Given the description of an element on the screen output the (x, y) to click on. 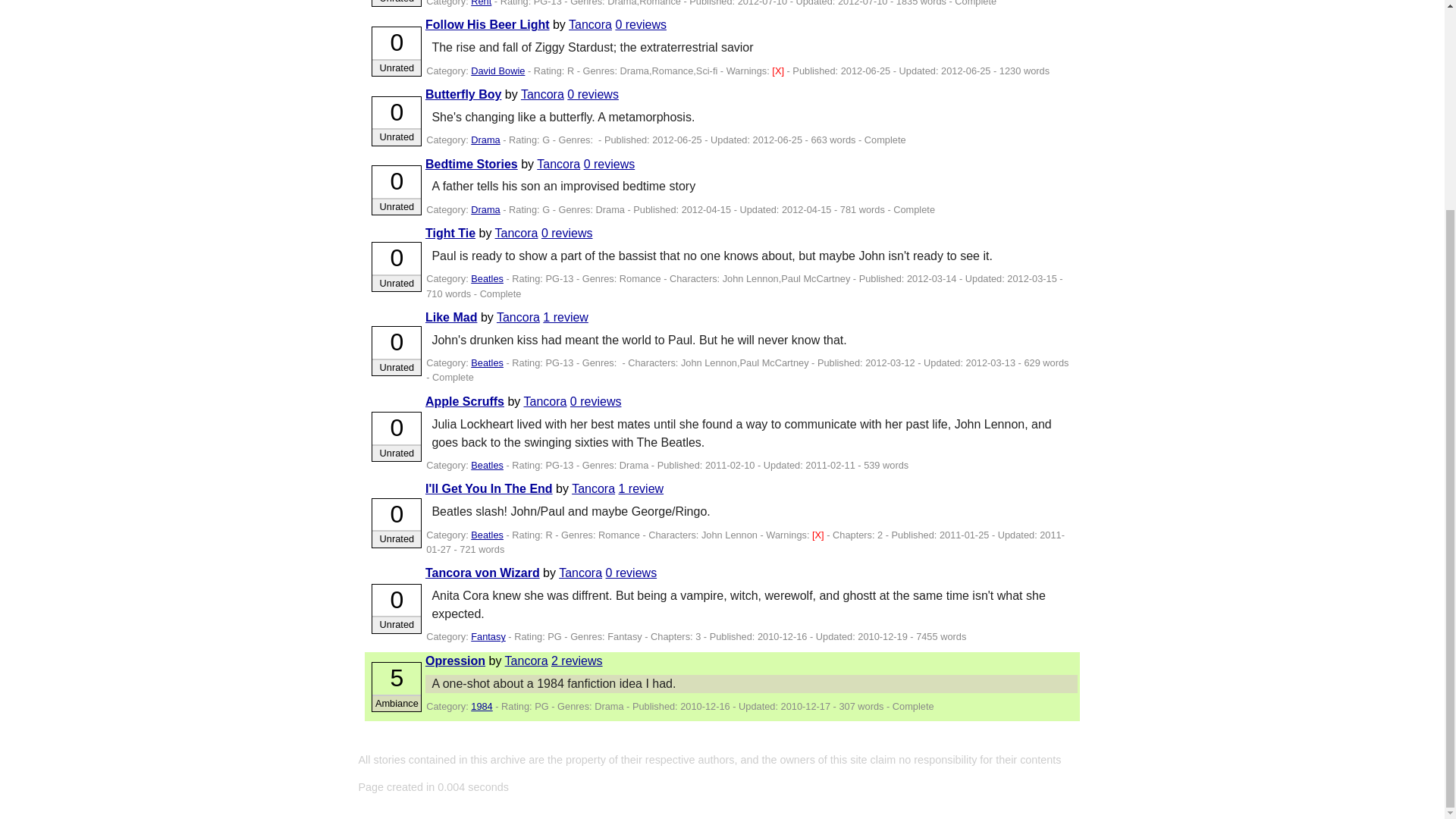
Butterfly Boy (462, 93)
Tight Tie (450, 232)
Drama (484, 139)
Beatles (486, 362)
Tancora (518, 317)
0 reviews (640, 24)
0 reviews (566, 232)
Tancora (544, 400)
Tancora (516, 232)
0 reviews (592, 93)
Apple Scruffs (464, 400)
Drama (484, 209)
Sex (778, 70)
Tancora (590, 24)
Bedtime Stories (471, 164)
